Given the description of an element on the screen output the (x, y) to click on. 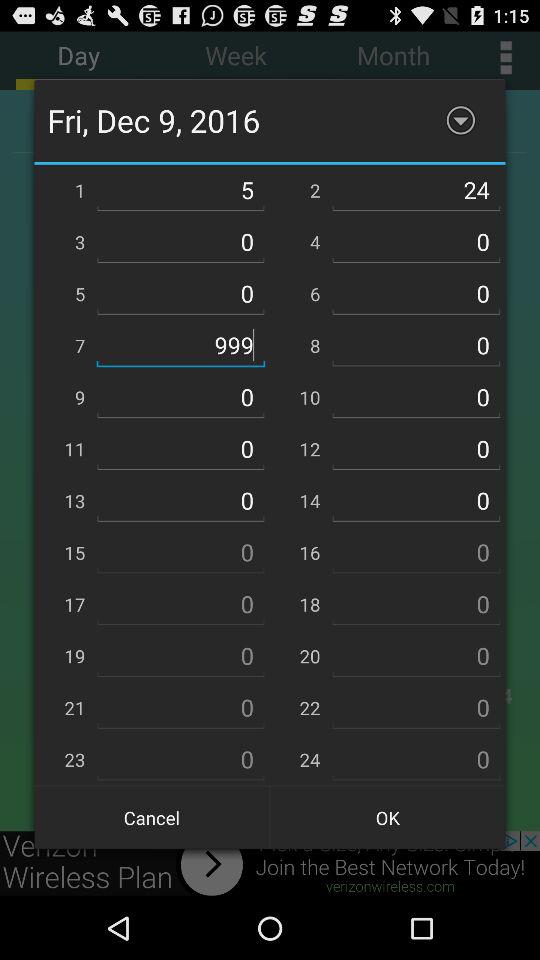
open menu (460, 119)
